Given the description of an element on the screen output the (x, y) to click on. 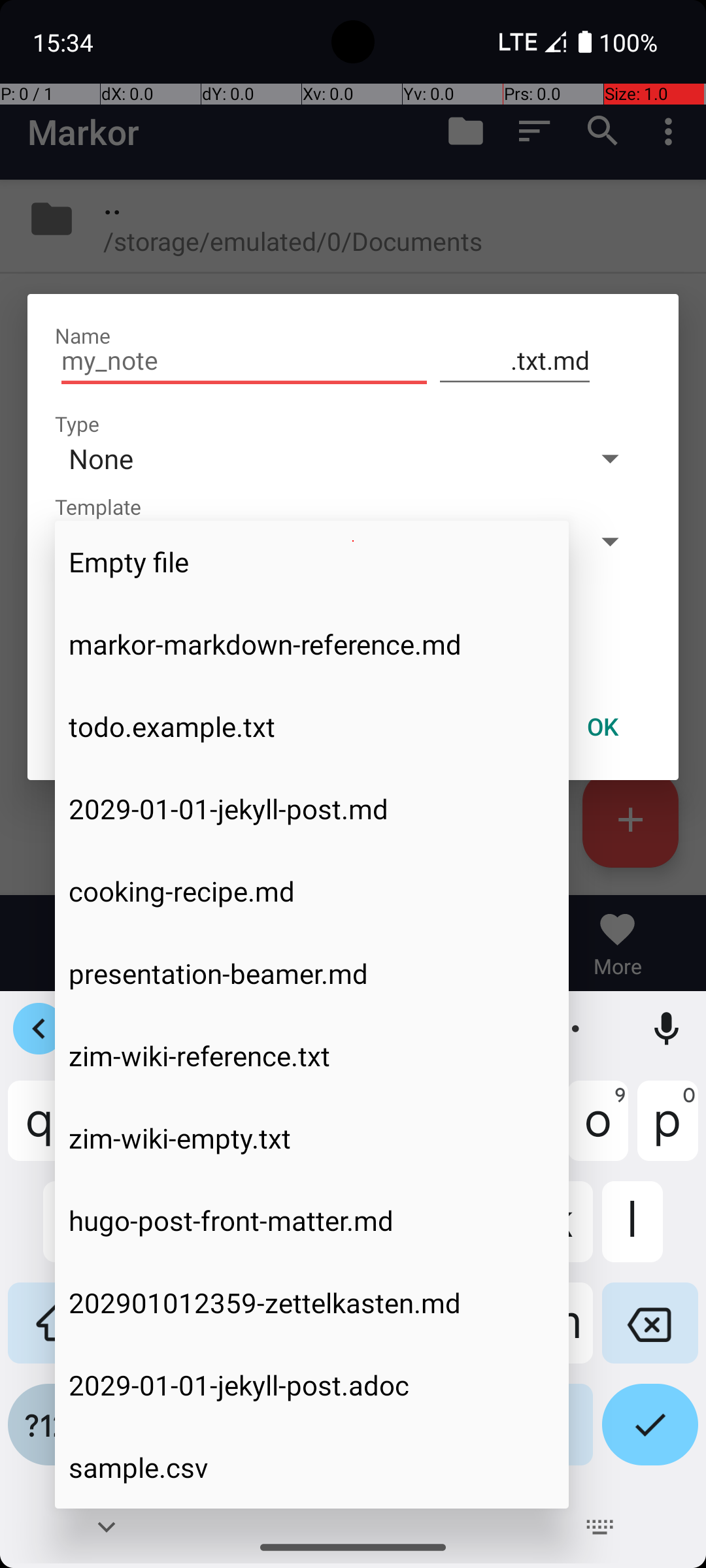
markor-markdown-reference.md Element type: android.widget.CheckedTextView (311, 644)
todo.example.txt Element type: android.widget.CheckedTextView (311, 726)
2029-01-01-jekyll-post.md Element type: android.widget.CheckedTextView (311, 808)
presentation-beamer.md Element type: android.widget.CheckedTextView (311, 973)
zim-wiki-reference.txt Element type: android.widget.CheckedTextView (311, 1055)
zim-wiki-empty.txt Element type: android.widget.CheckedTextView (311, 1137)
hugo-post-front-matter.md Element type: android.widget.CheckedTextView (311, 1220)
202901012359-zettelkasten.md Element type: android.widget.CheckedTextView (311, 1302)
2029-01-01-jekyll-post.adoc Element type: android.widget.CheckedTextView (311, 1384)
sample.csv Element type: android.widget.CheckedTextView (311, 1467)
